Given the description of an element on the screen output the (x, y) to click on. 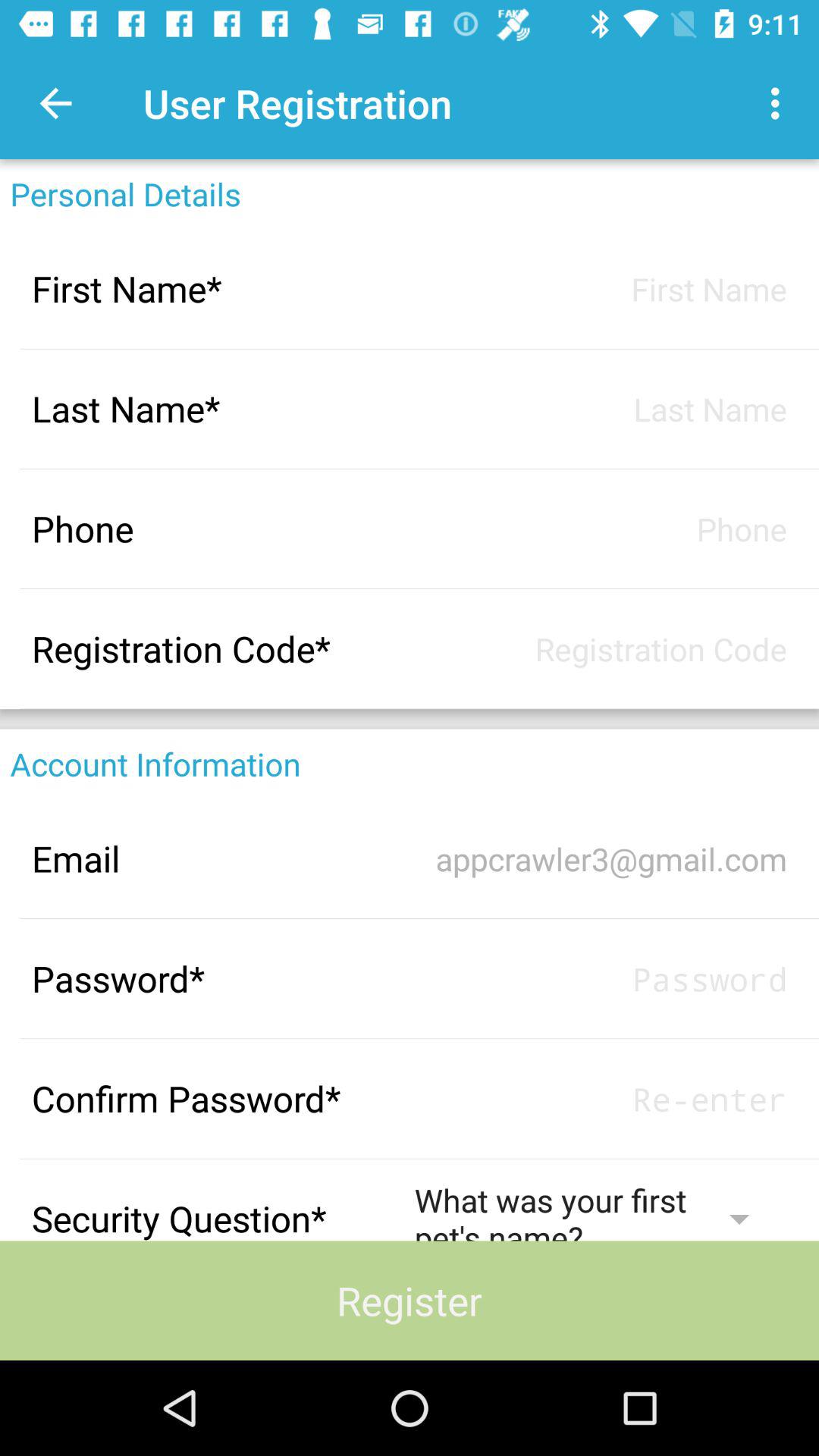
field to put first name (600, 288)
